Given the description of an element on the screen output the (x, y) to click on. 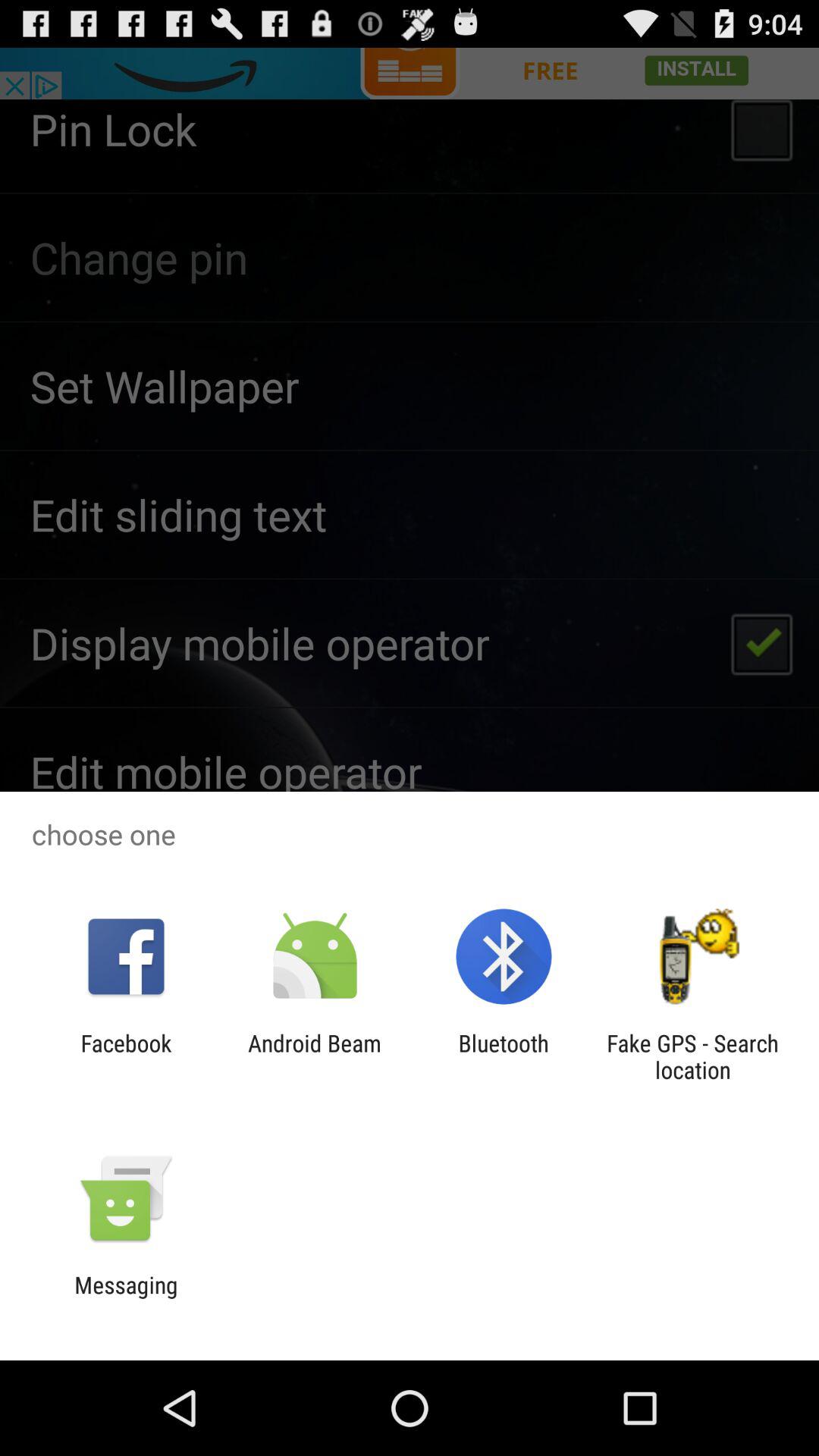
select android beam icon (314, 1056)
